Given the description of an element on the screen output the (x, y) to click on. 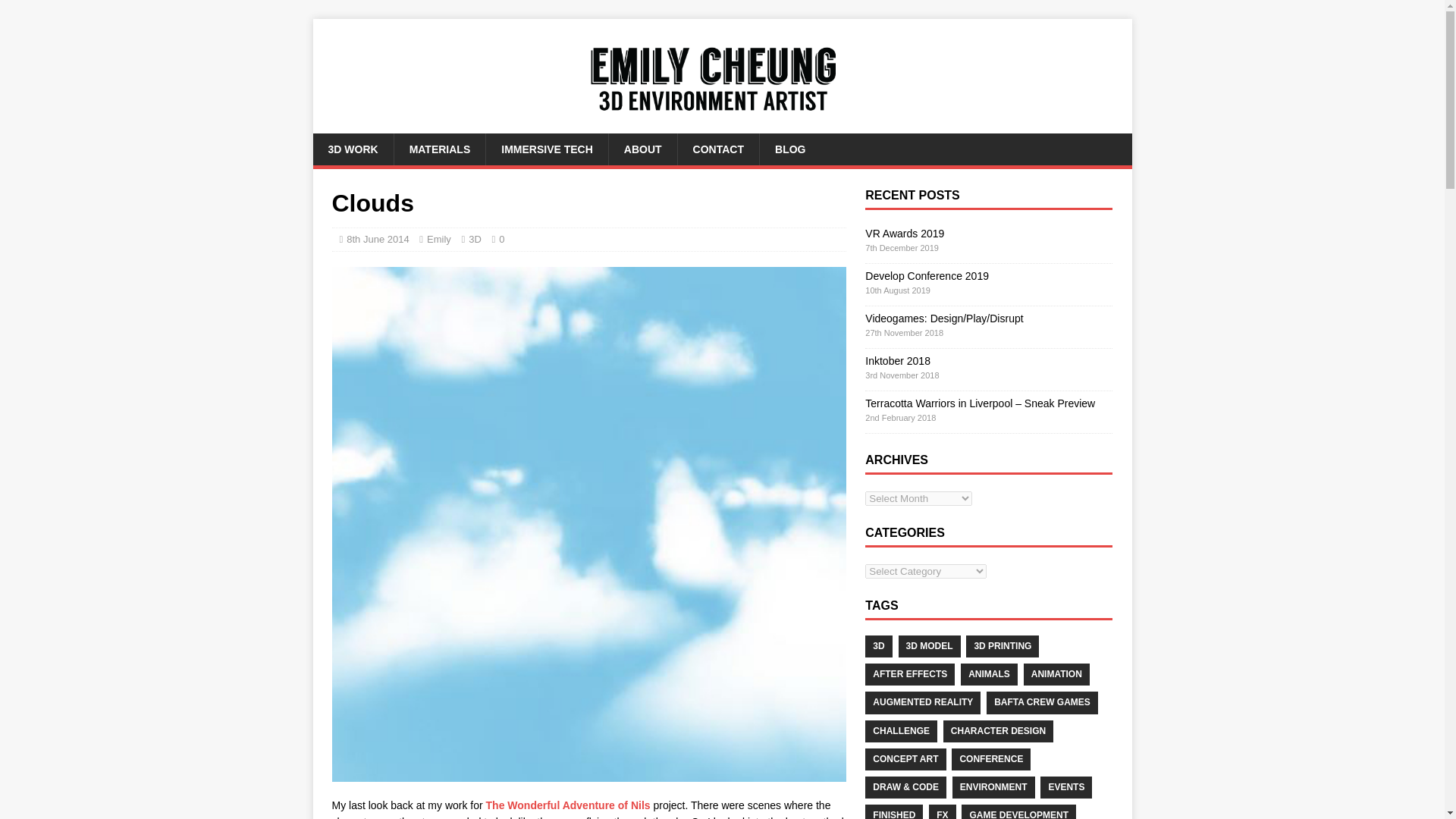
IMMERSIVE TECH (546, 149)
Emily (438, 238)
MATERIALS (439, 149)
8th June 2014 (377, 238)
BLOG (789, 149)
The Wonderful Adventure of Nils (568, 805)
Inktober 2018 (897, 360)
Develop Conference 2019 (926, 275)
CONTACT (717, 149)
3D WORK (353, 149)
VR Awards 2019 (903, 233)
3D (474, 238)
ABOUT (642, 149)
The Wonderful Adventure of Nils (568, 805)
